Given the description of an element on the screen output the (x, y) to click on. 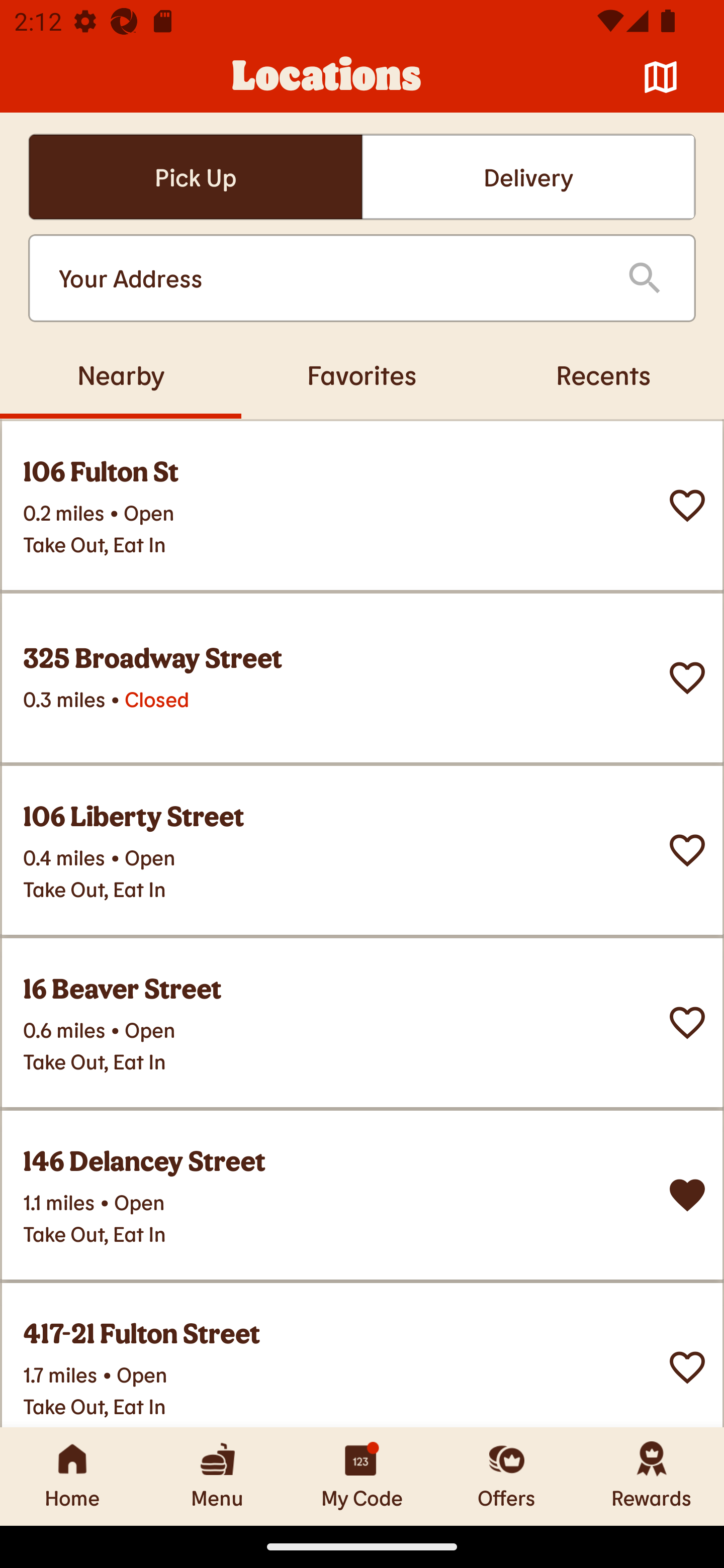
Map 󰦂 (660, 77)
Locations (326, 77)
Pick UpSelected Pick UpSelected Pick Up (195, 176)
Delivery Delivery Delivery (528, 176)
Your Address (327, 277)
Nearby (120, 374)
Favorites (361, 374)
Recents (603, 374)
Set this restaurant as a favorite  (687, 505)
Set this restaurant as a favorite  (687, 677)
Set this restaurant as a favorite  (687, 850)
Set this restaurant as a favorite  (687, 1022)
Remove from Favorites?  (687, 1195)
Set this restaurant as a favorite  (687, 1367)
Home (72, 1475)
Menu (216, 1475)
My Code (361, 1475)
Offers (506, 1475)
Rewards (651, 1475)
